Given the description of an element on the screen output the (x, y) to click on. 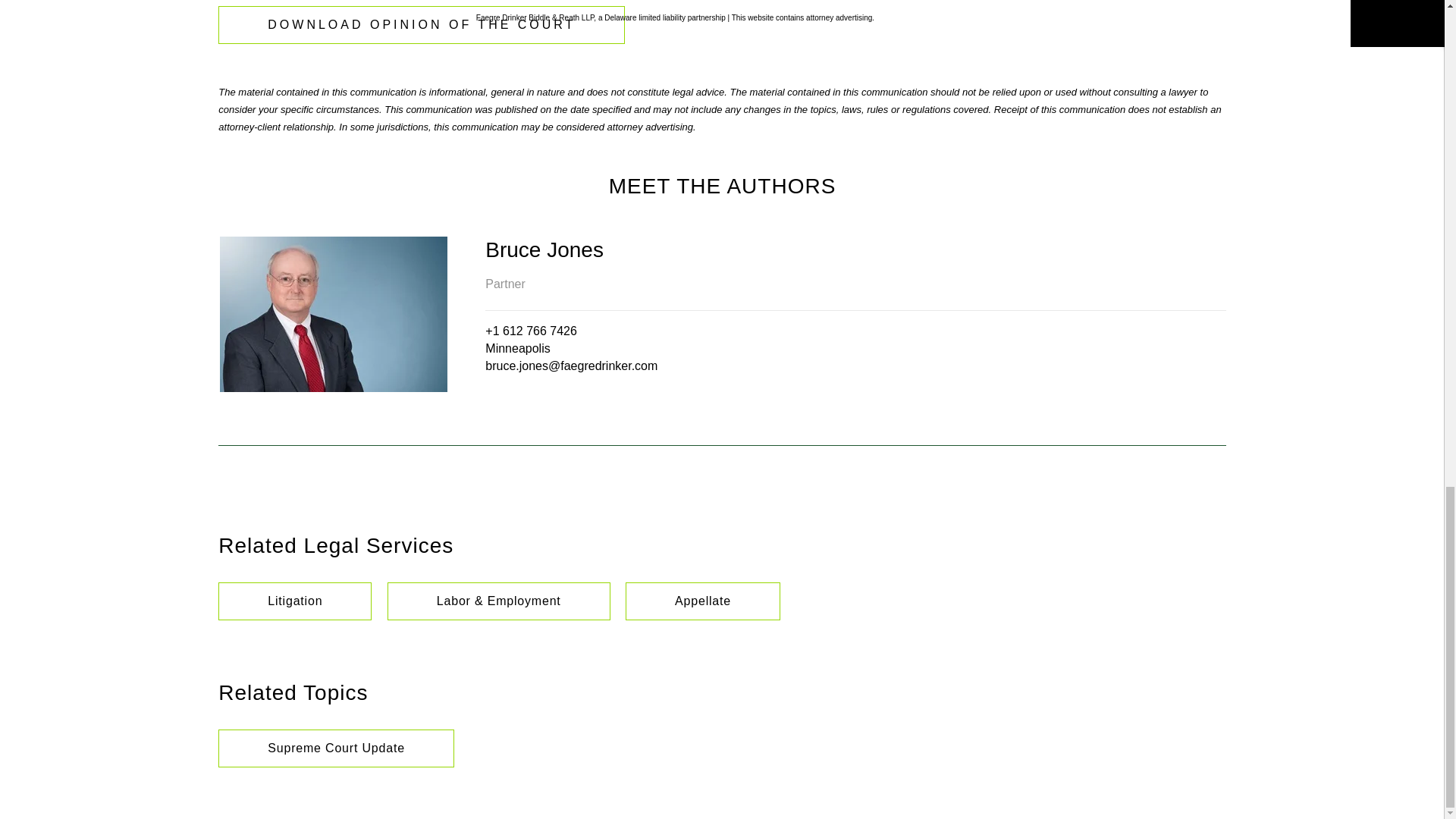
Minneapolis (517, 348)
DOWNLOAD OPINION OF THE COURT (421, 24)
Bruce Jones (854, 250)
